Given the description of an element on the screen output the (x, y) to click on. 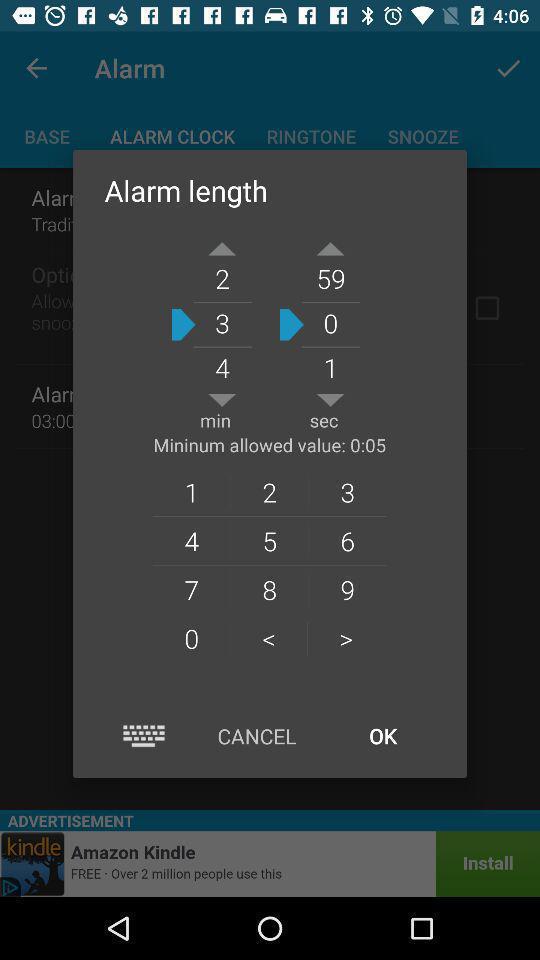
open the icon below 2 icon (347, 540)
